Given the description of an element on the screen output the (x, y) to click on. 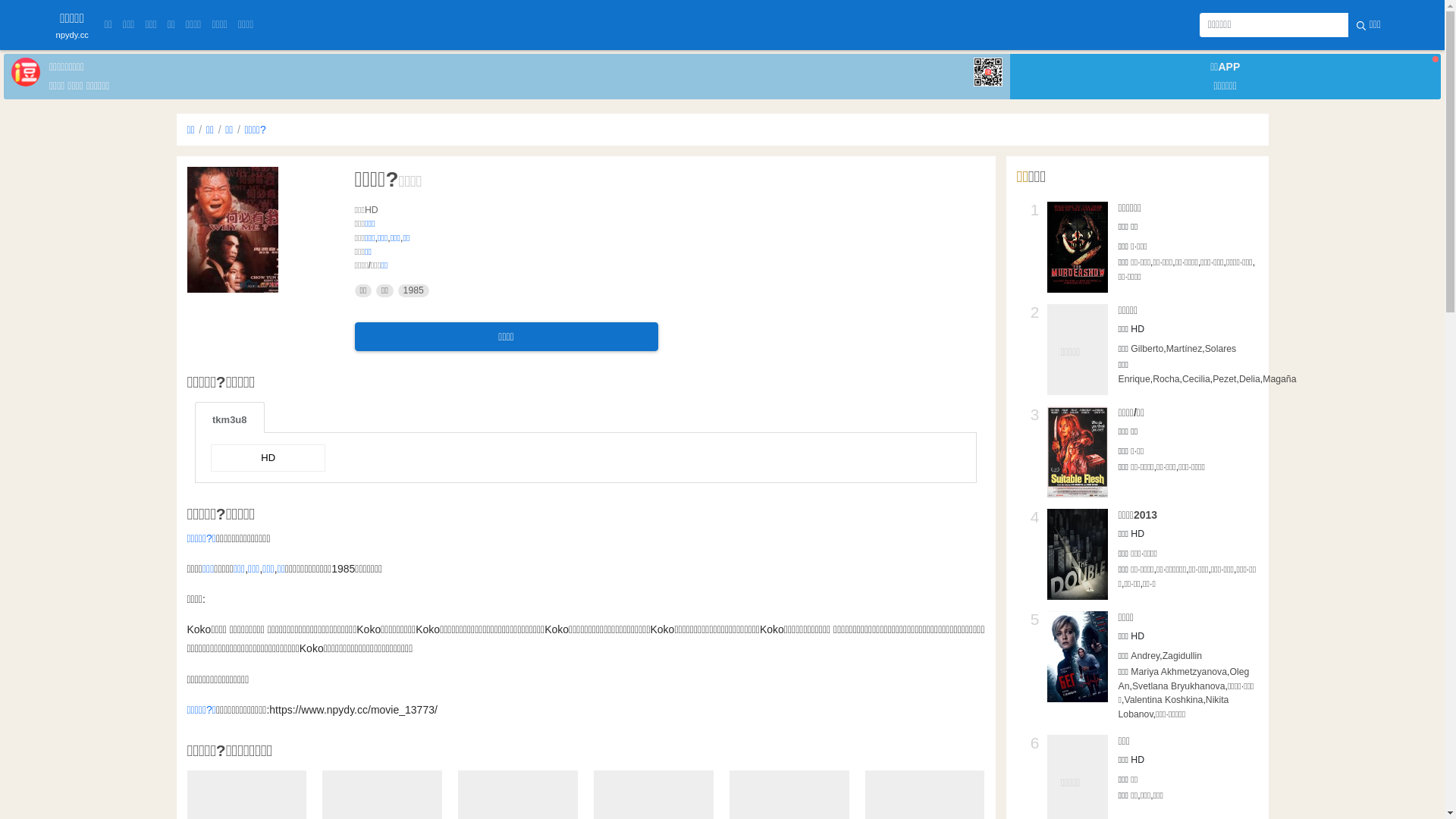
Valentina Koshkina Element type: text (1162, 699)
tkm3u8 Element type: text (229, 417)
Rocha Element type: text (1165, 378)
Oleg An Element type: text (1182, 678)
Zagidullin Element type: text (1181, 655)
Svetlana Bryukhanova Element type: text (1178, 685)
Enrique Element type: text (1133, 378)
Mariya Akhmetzyanova Element type: text (1178, 671)
Cecilia Element type: text (1196, 378)
Nikita Lobanov Element type: text (1172, 706)
Solares Element type: text (1220, 348)
Andrey Element type: text (1144, 655)
1985 Element type: text (413, 290)
Pezet Element type: text (1224, 378)
Gilberto Element type: text (1146, 348)
HD Element type: text (267, 457)
Delia Element type: text (1249, 378)
